Given the description of an element on the screen output the (x, y) to click on. 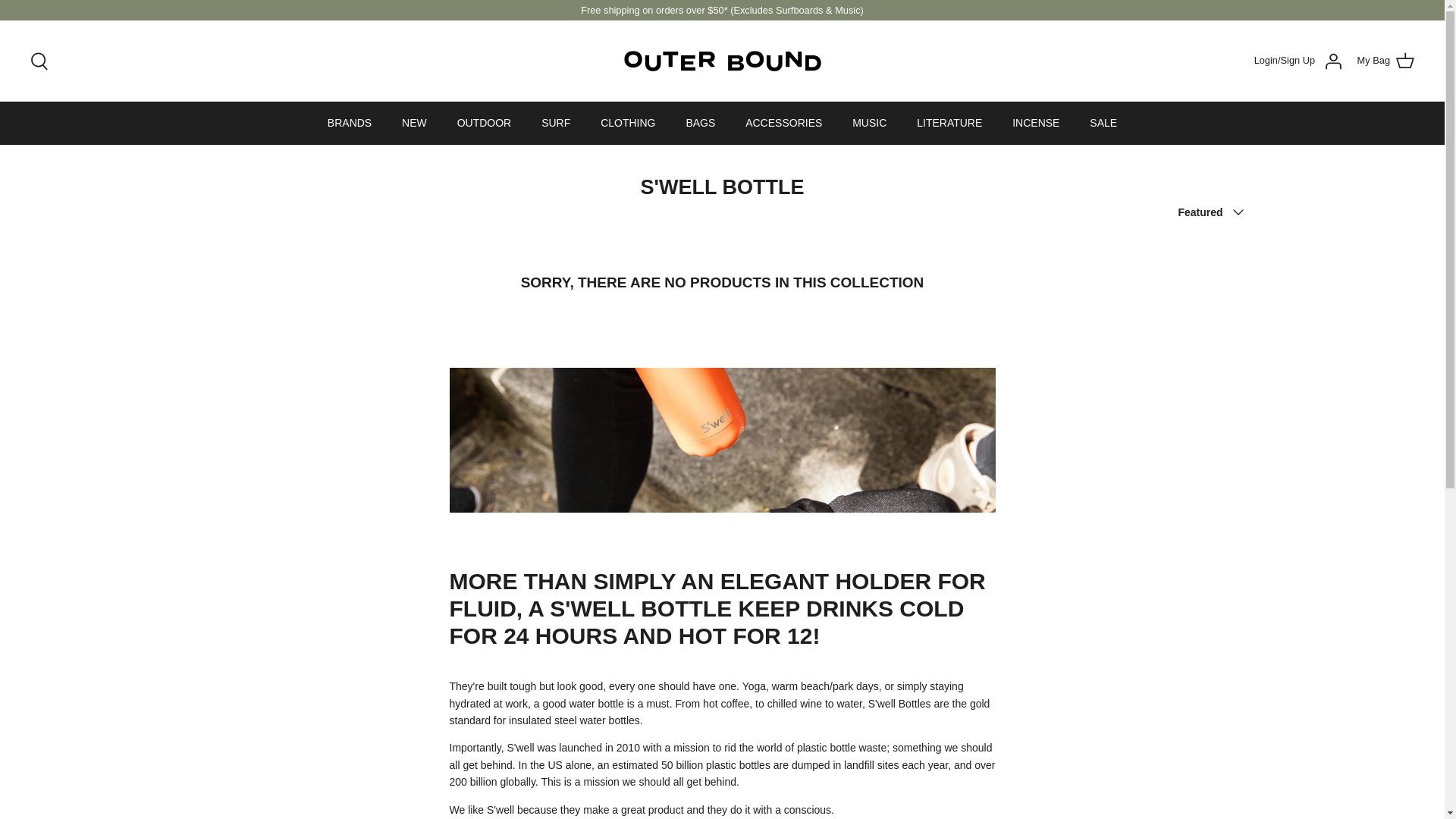
OUTERBOUND (722, 60)
My Bag (1384, 61)
BRANDS (349, 122)
